Given the description of an element on the screen output the (x, y) to click on. 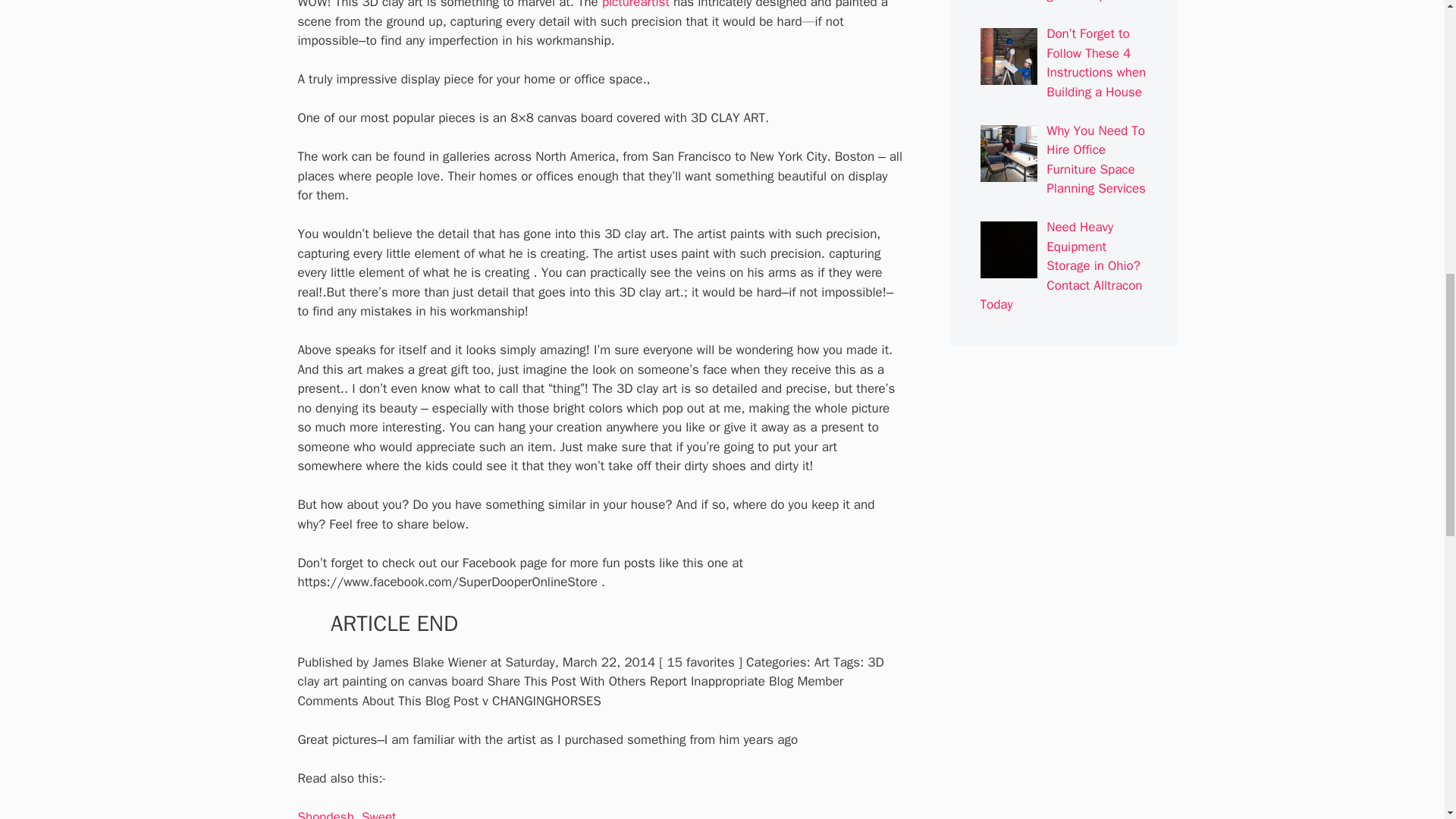
pictureartist (635, 4)
